Given the description of an element on the screen output the (x, y) to click on. 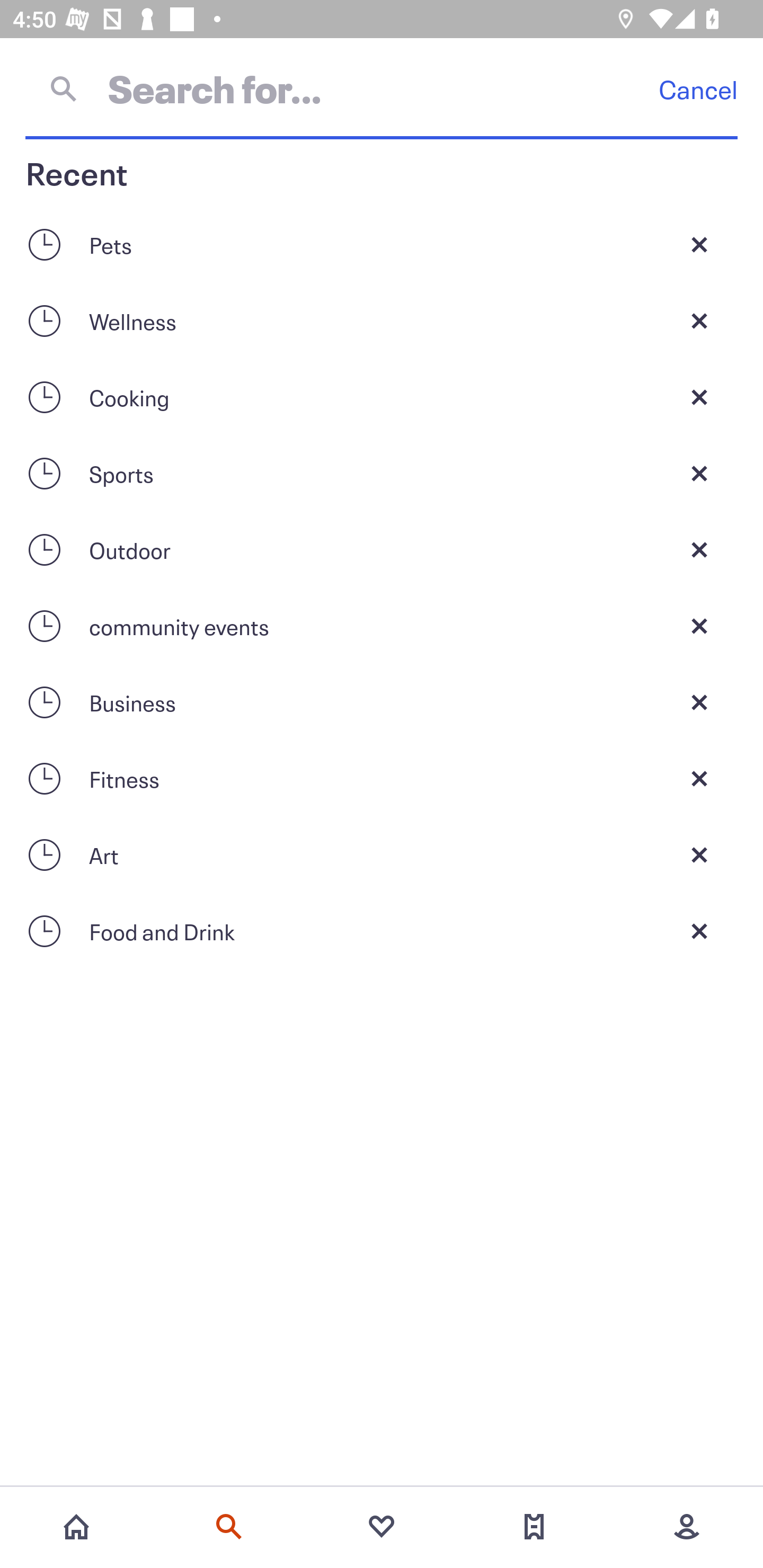
Cancel Search for… (381, 88)
Cancel (697, 89)
Pets Close current screen (381, 244)
Close current screen (699, 244)
Wellness Close current screen (381, 320)
Close current screen (699, 320)
Cooking Close current screen (381, 397)
Close current screen (699, 397)
Sports Close current screen (381, 473)
Close current screen (699, 473)
Outdoor Close current screen (381, 549)
Close current screen (699, 549)
community events Close current screen (381, 626)
Close current screen (699, 626)
Business Close current screen (381, 702)
Close current screen (699, 702)
Fitness Close current screen (381, 778)
Close current screen (699, 778)
Art Close current screen (381, 854)
Close current screen (699, 854)
Food and Drink Close current screen (381, 931)
Close current screen (699, 931)
Home (76, 1526)
Search events (228, 1526)
Favorites (381, 1526)
Tickets (533, 1526)
More (686, 1526)
